Given the description of an element on the screen output the (x, y) to click on. 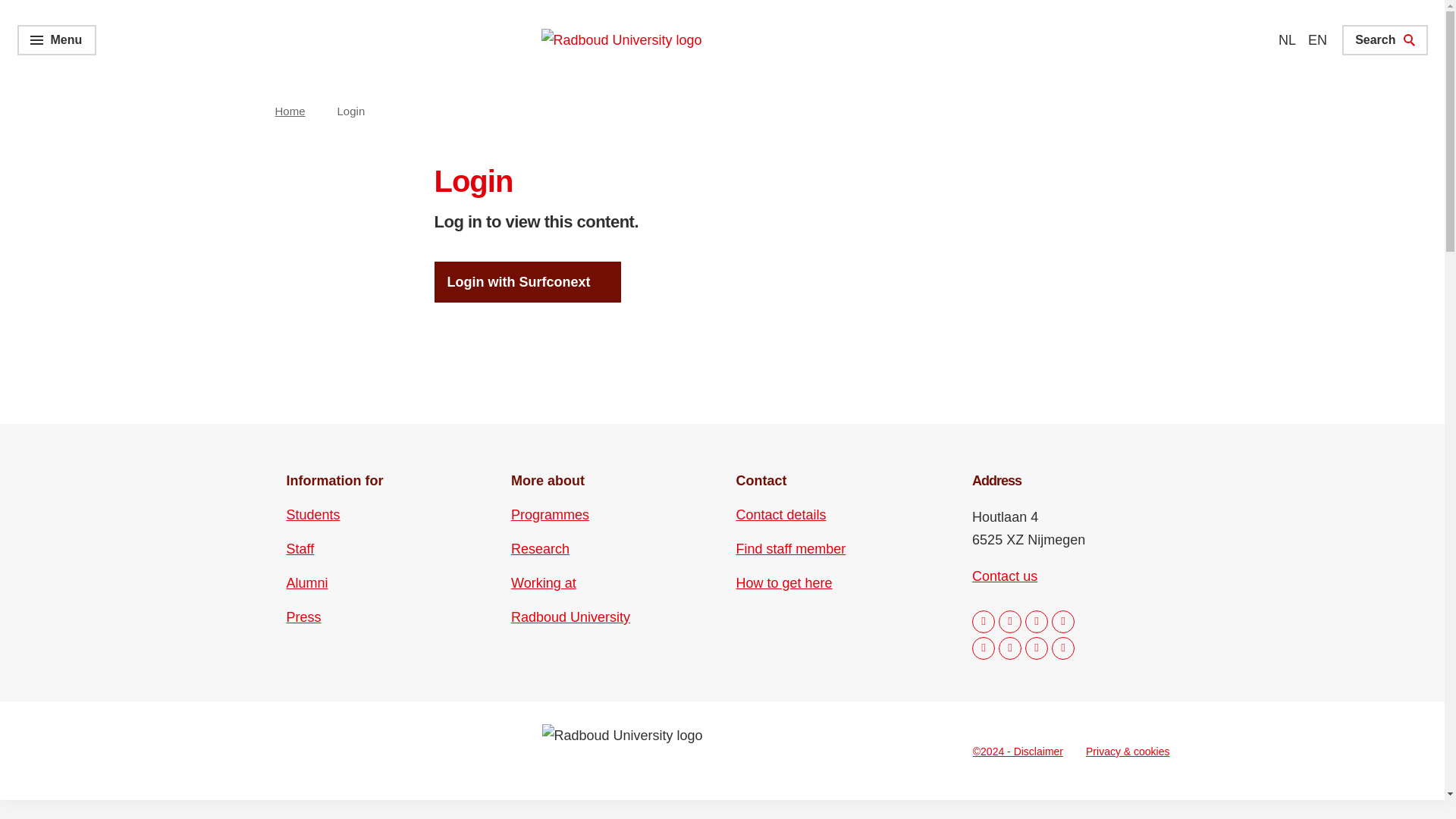
Mastodon (1062, 621)
LinkedIn (1036, 621)
X (983, 648)
Facebook (983, 621)
Information about our campus and how to get here (784, 582)
SnapChat (1062, 648)
TikTok (1036, 648)
Instagram (1010, 621)
YouTube (1010, 648)
